Given the description of an element on the screen output the (x, y) to click on. 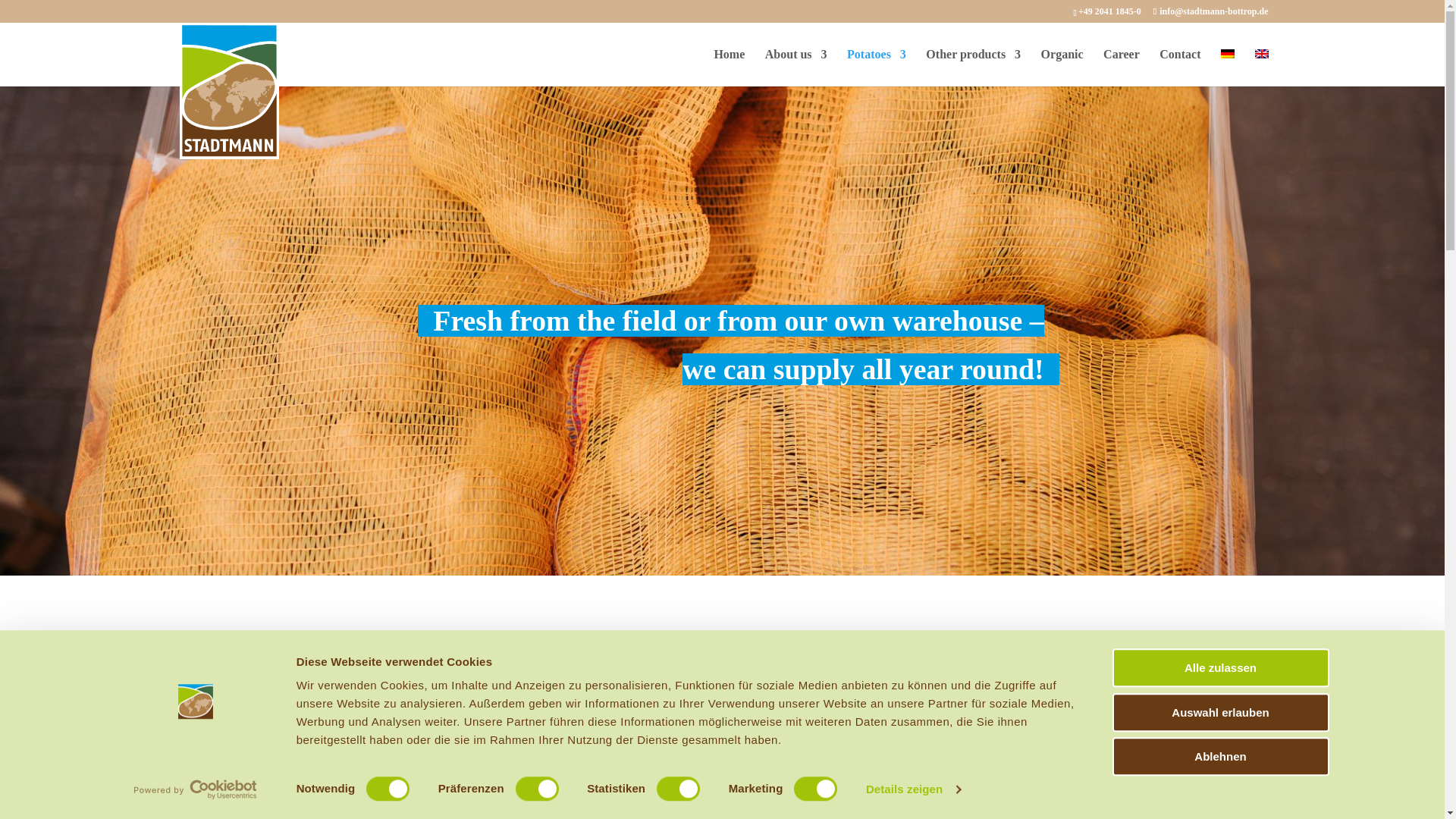
Alle zulassen (1219, 667)
About us (796, 67)
Potatoes in net (1018, 708)
Auswahl erlauben (1219, 712)
Ablehnen (1219, 756)
Details zeigen (913, 789)
Potatoes (876, 67)
